Given the description of an element on the screen output the (x, y) to click on. 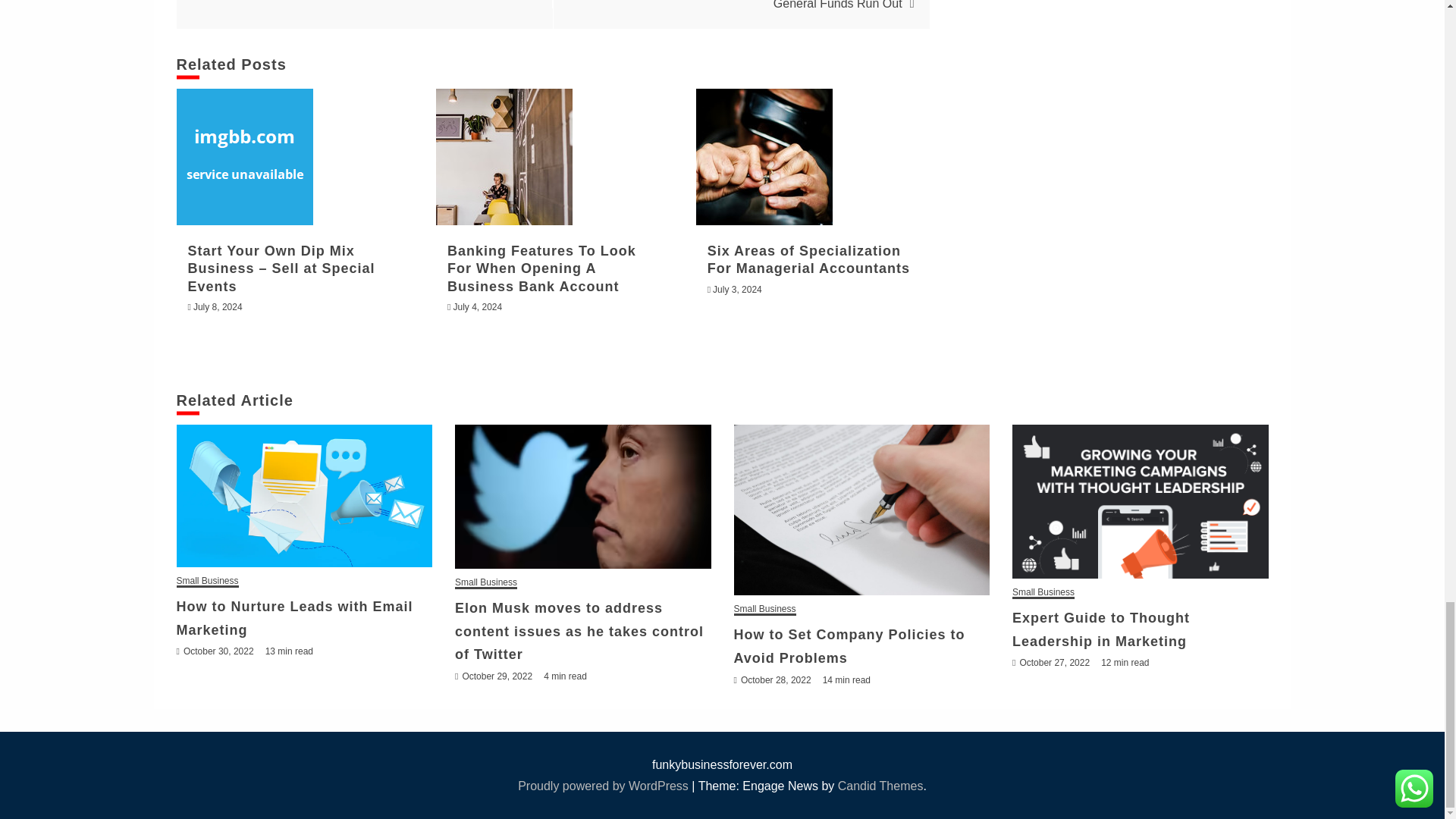
Expert Guide to Thought Leadership in Marketing (1139, 501)
How to Set Company Policies to Avoid Problems (861, 510)
How to Nurture Leads with Email Marketing (304, 496)
Six Areas of Specialization For Managerial Accountants (763, 156)
